Given the description of an element on the screen output the (x, y) to click on. 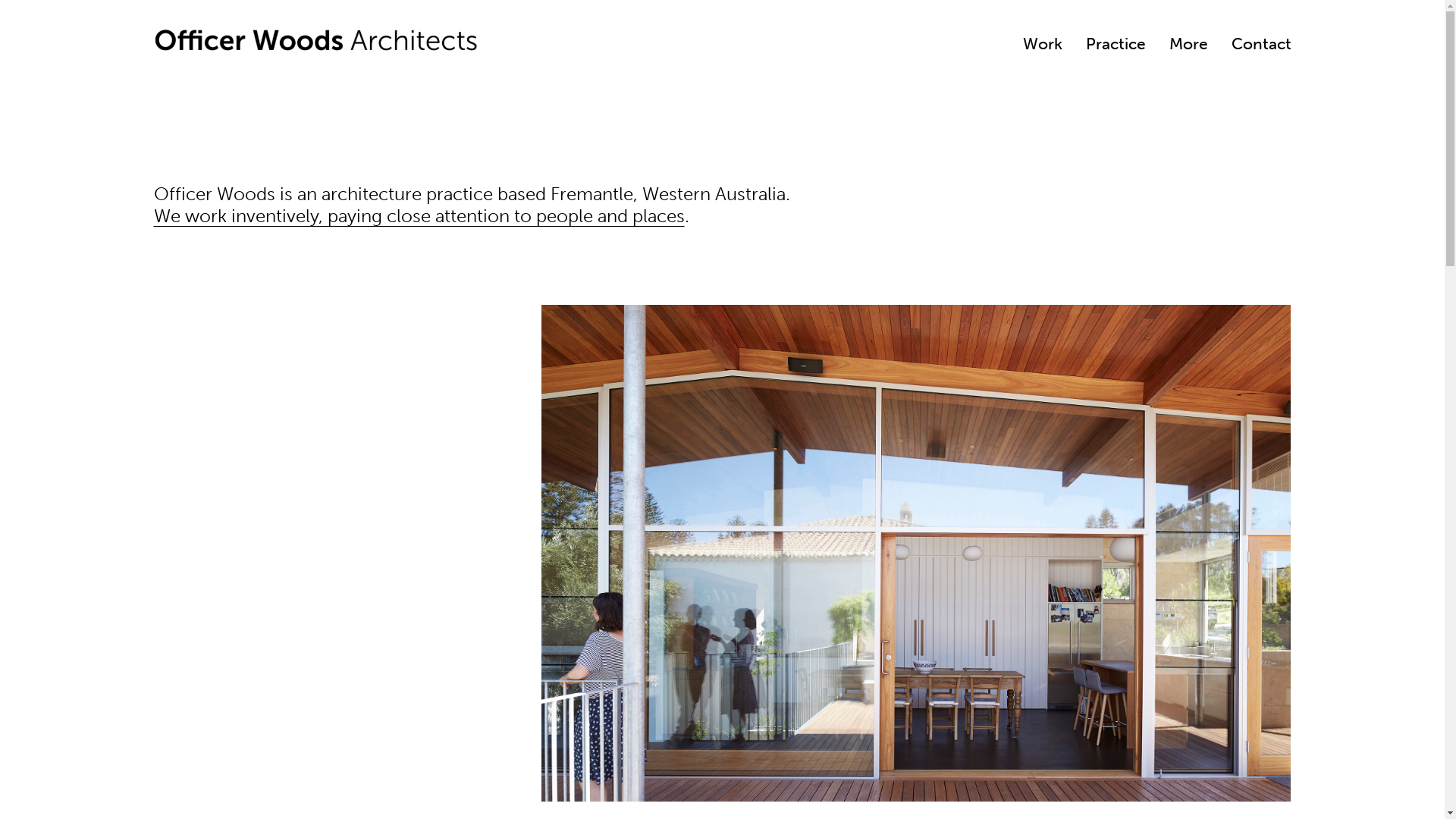
Work Element type: text (1042, 43)
Practice Element type: text (1115, 43)
More Element type: text (1188, 43)
Contact Element type: text (1261, 43)
